Given the description of an element on the screen output the (x, y) to click on. 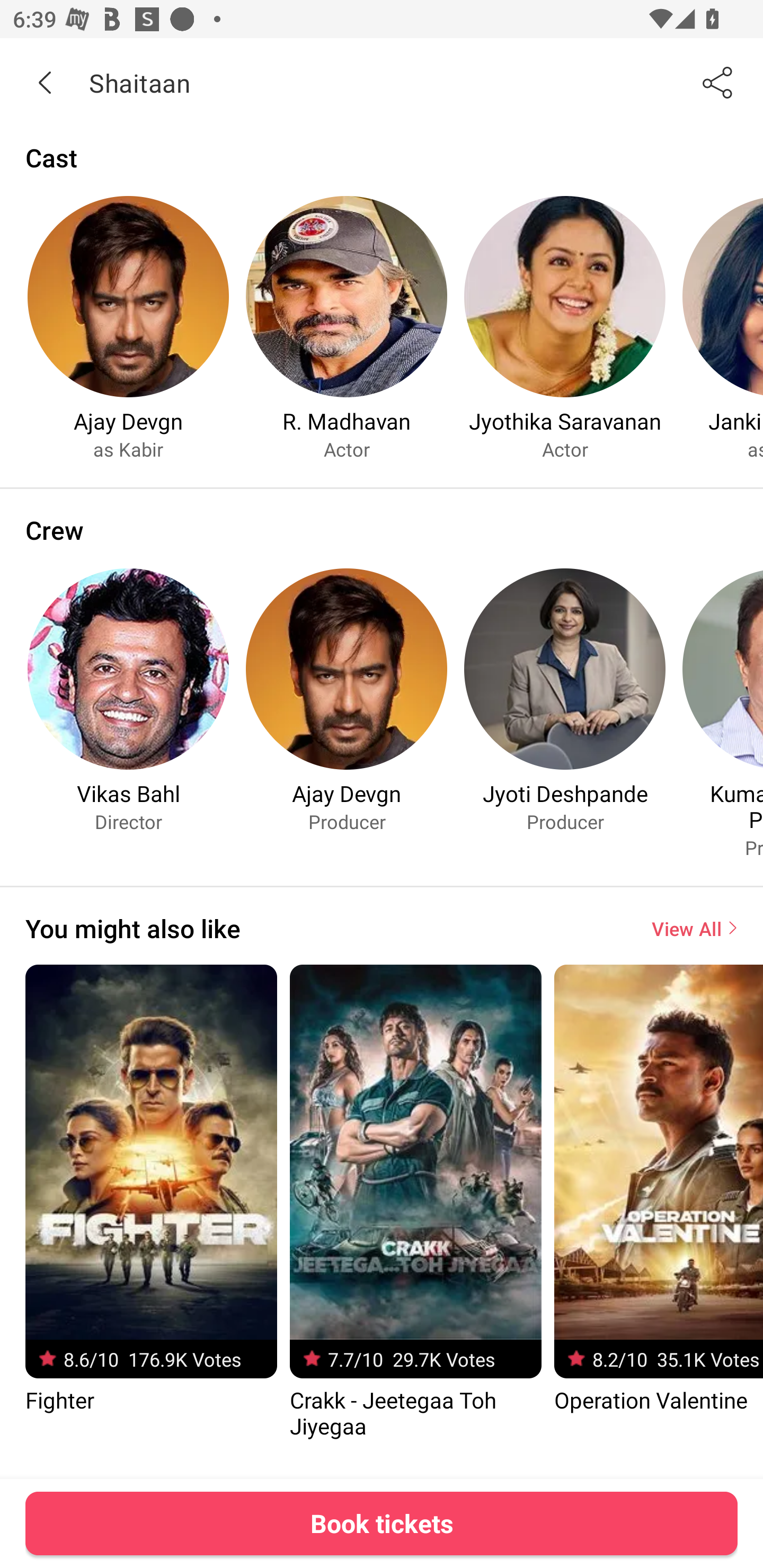
Back (44, 82)
Share (718, 82)
Ajay Devgn as Kabir (128, 328)
R. Madhavan Actor (346, 328)
Jyothika Saravanan Actor (564, 328)
Vikas Bahl Director (128, 700)
Ajay Devgn Producer (346, 700)
Jyoti Deshpande Producer (564, 700)
View All (694, 927)
8.6/10  176.9K Votes Fighter (150, 1189)
7.7/10  29.7K Votes Crakk - Jeetegaa Toh Jiyegaa (415, 1202)
8.2/10  35.1K Votes Operation Valentine (658, 1189)
Book tickets (381, 1523)
